Given the description of an element on the screen output the (x, y) to click on. 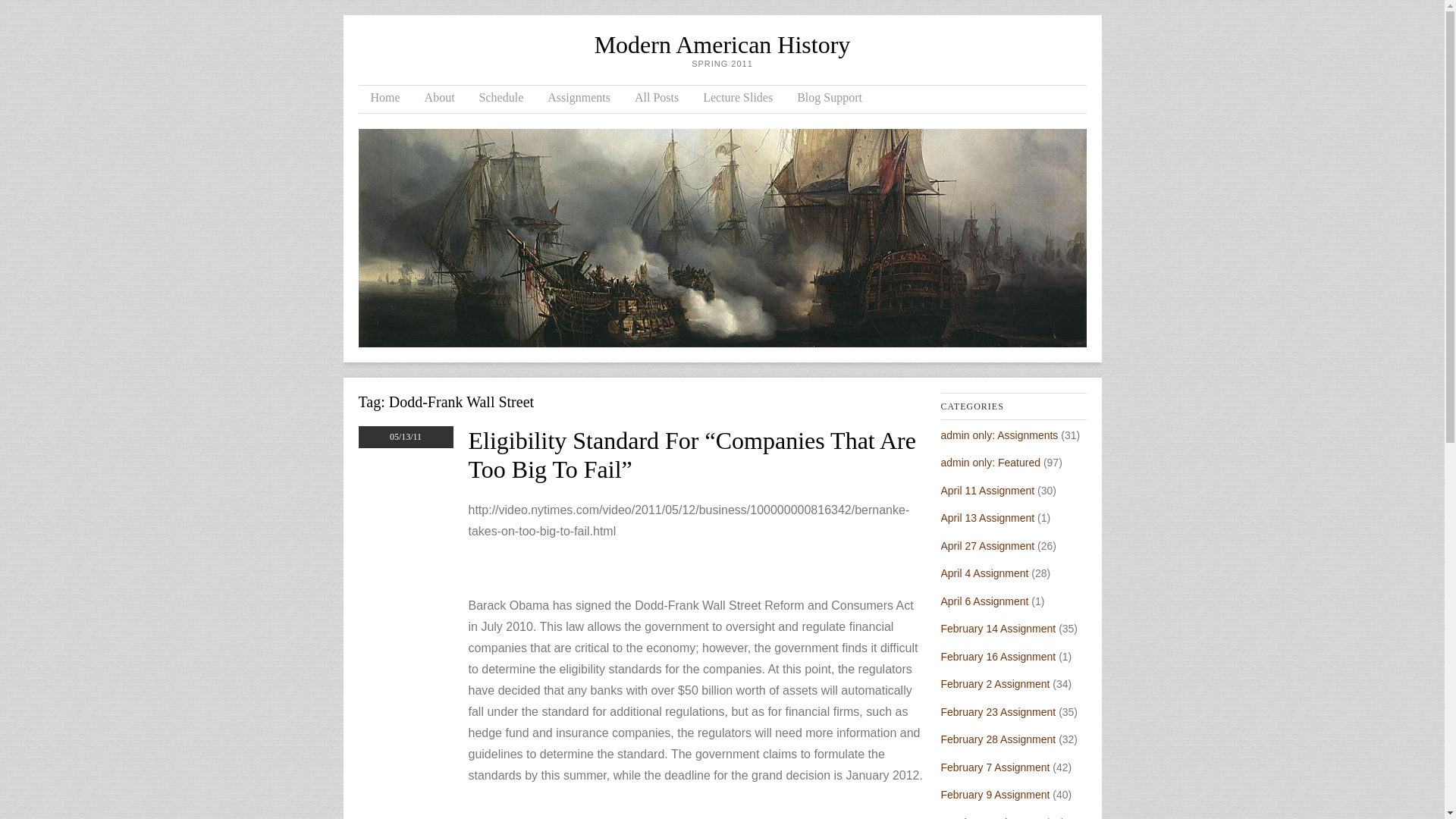
Schedule (501, 99)
Lecture Slides (737, 99)
March 14 Assignment (991, 817)
February 7 Assignment (994, 767)
Modern American History (722, 44)
Assignments (579, 99)
Blog Support (829, 99)
admin only: Assignments (999, 435)
Home (385, 99)
February 23 Assignment (997, 711)
All Posts (656, 99)
April 4 Assignment (983, 573)
admin only: Featured (990, 462)
April 27 Assignment (986, 545)
April 11 Assignment (986, 490)
